Given the description of an element on the screen output the (x, y) to click on. 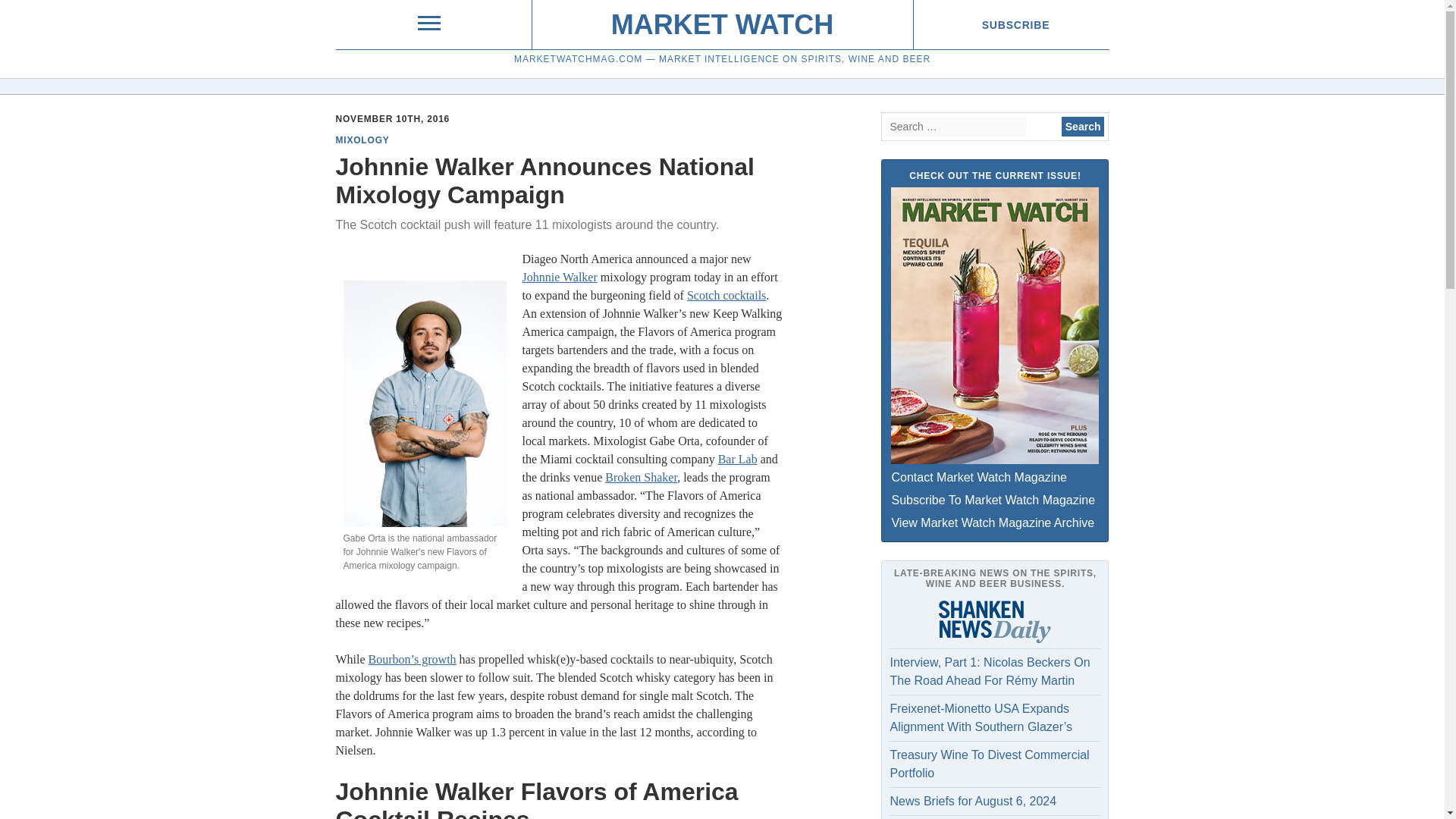
MARKET WATCH (721, 24)
Search (1083, 126)
Scotch cocktails (726, 295)
Johnnie Walker (558, 277)
Search (1083, 126)
MIXOLOGY (361, 140)
Bar Lab (737, 459)
Broken Shaker (641, 477)
SUBSCRIBE (1014, 24)
